Given the description of an element on the screen output the (x, y) to click on. 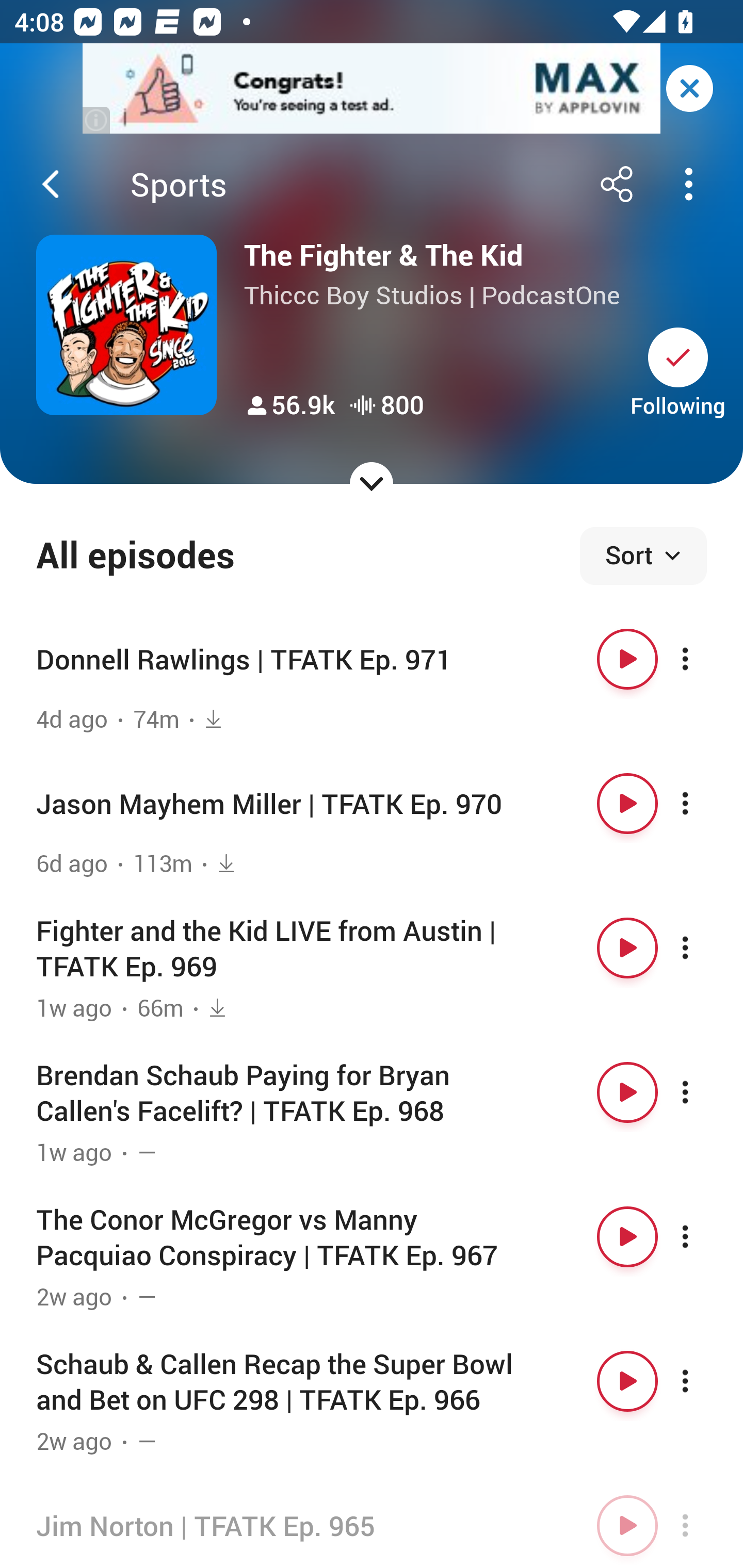
app-monetization (371, 88)
(i) (96, 119)
Back (50, 184)
Unsubscribe button (677, 357)
Sort episodes Sort (643, 555)
Play button (627, 659)
More options (703, 659)
Play button (627, 803)
More options (703, 803)
Play button (627, 947)
More options (703, 947)
Play button (627, 1092)
More options (703, 1092)
Play button (627, 1236)
More options (703, 1236)
Play button (627, 1381)
More options (703, 1381)
Play button (627, 1525)
More options (703, 1525)
